Given the description of an element on the screen output the (x, y) to click on. 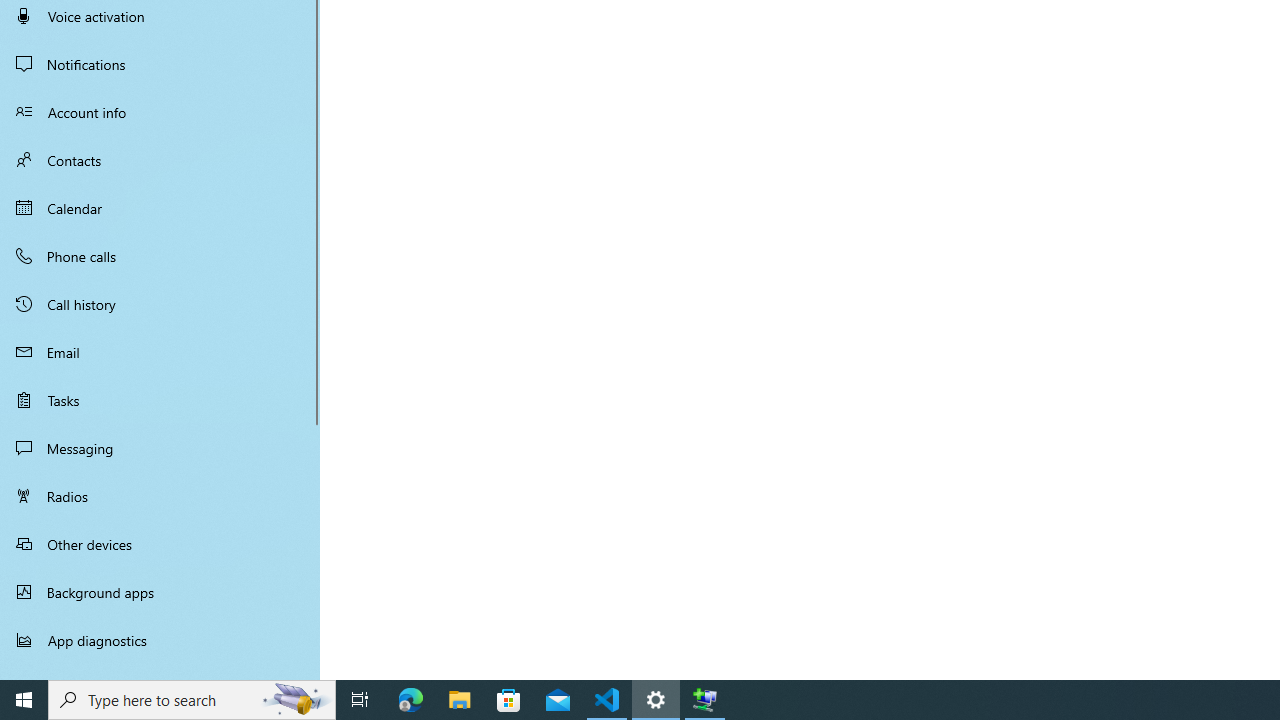
Background apps (160, 592)
Call history (160, 304)
Extensible Wizards Host Process - 1 running window (704, 699)
Radios (160, 495)
Tasks (160, 399)
Other devices (160, 543)
Calendar (160, 207)
Account info (160, 111)
App diagnostics (160, 639)
Notifications (160, 63)
